Given the description of an element on the screen output the (x, y) to click on. 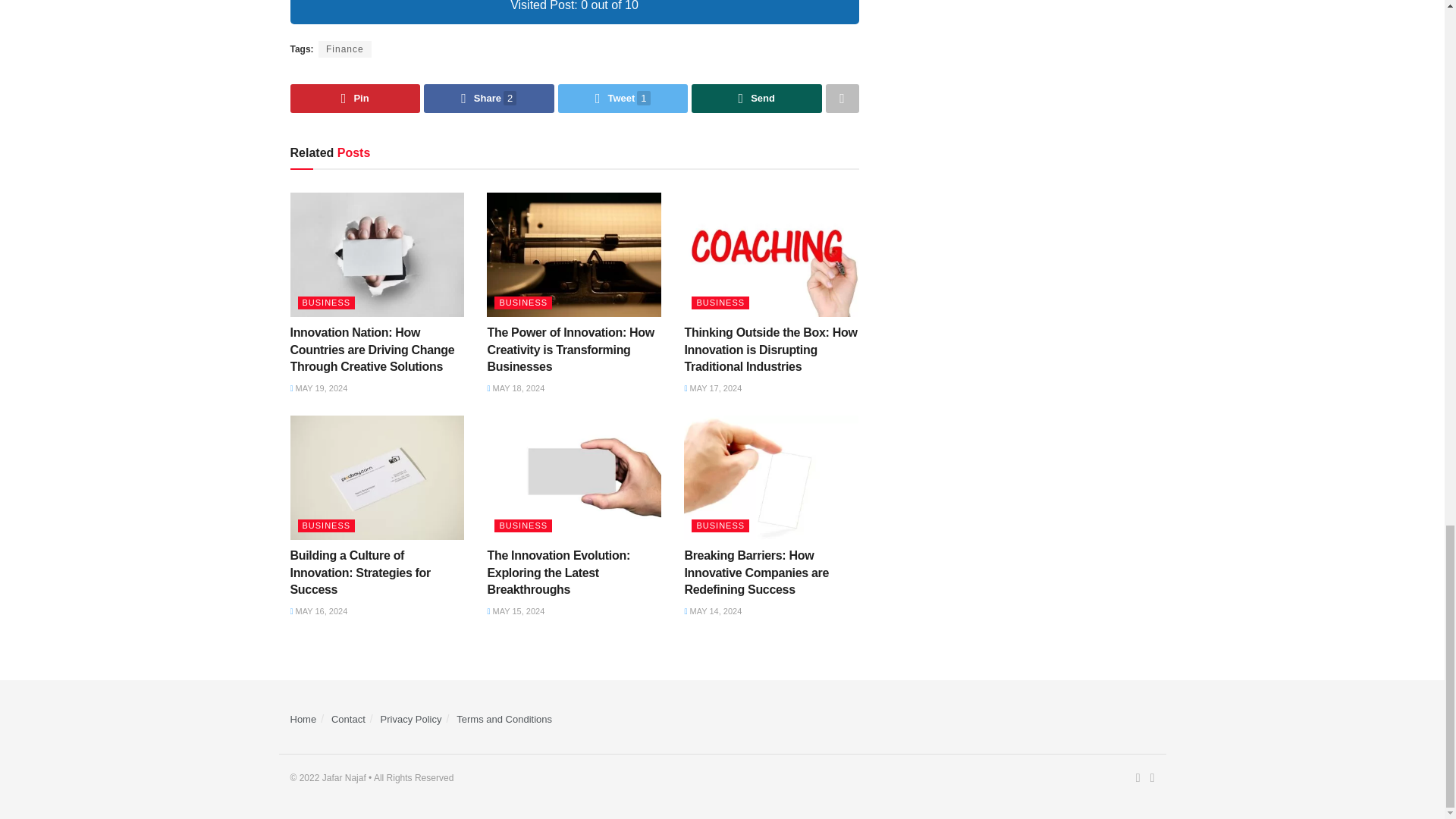
BUSINESS (326, 302)
Share2 (488, 98)
Send (756, 98)
MAY 19, 2024 (318, 388)
Pin (354, 98)
Finance (344, 48)
Tweet1 (622, 98)
